Given the description of an element on the screen output the (x, y) to click on. 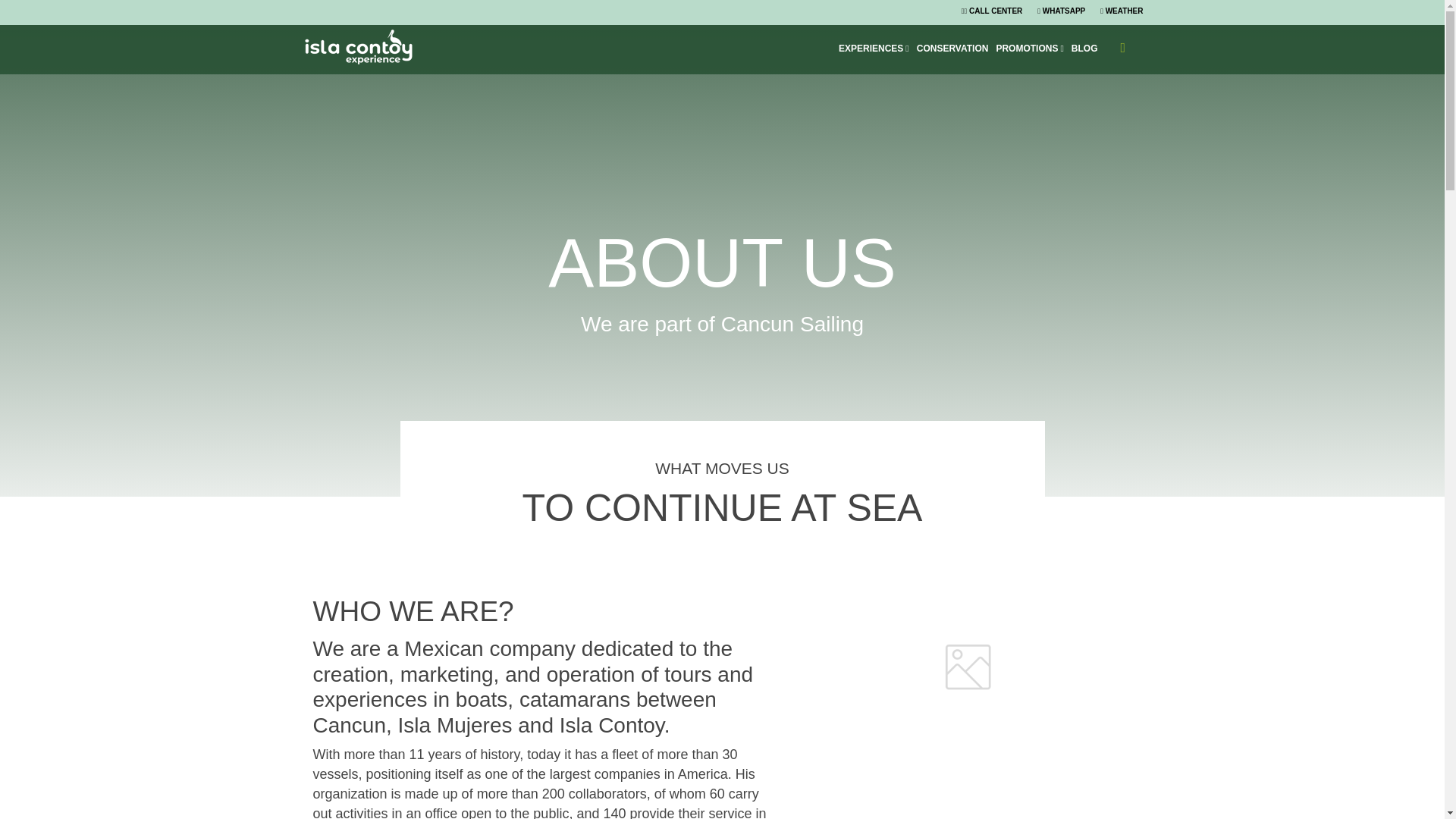
BLOG (1084, 48)
CONSERVATION (952, 48)
PROMOTIONS (1029, 48)
EXPERIENCES (873, 48)
